Given the description of an element on the screen output the (x, y) to click on. 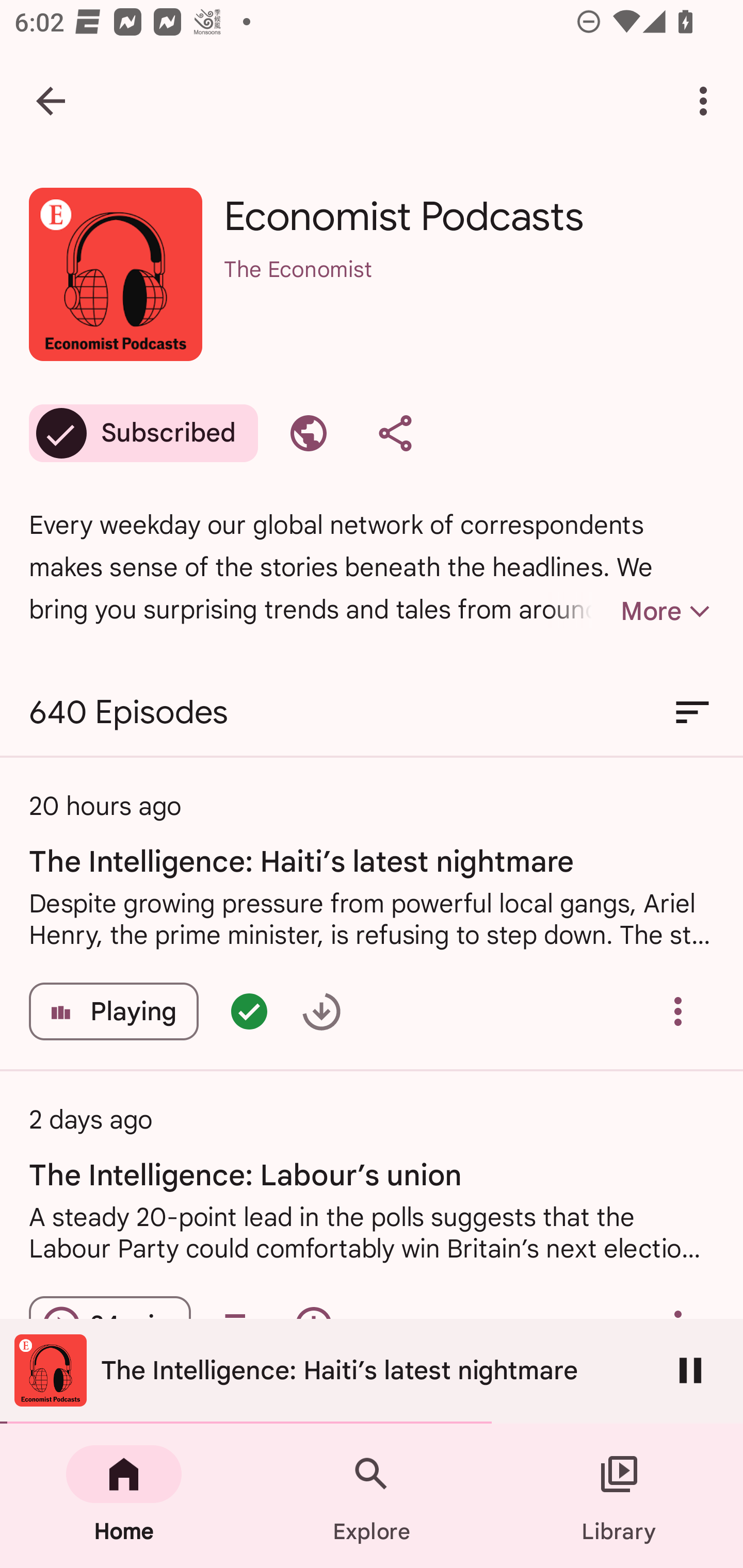
Navigate up (50, 101)
More options (706, 101)
The Economist (468, 295)
Subscribed (142, 433)
Visit website (308, 433)
Share (395, 433)
More (631, 610)
Sort (692, 712)
Episode queued - double tap for options (249, 1011)
Queued to download - double tap for options (321, 1011)
Overflow menu (677, 1011)
Pause (690, 1370)
Explore (371, 1495)
Library (619, 1495)
